Given the description of an element on the screen output the (x, y) to click on. 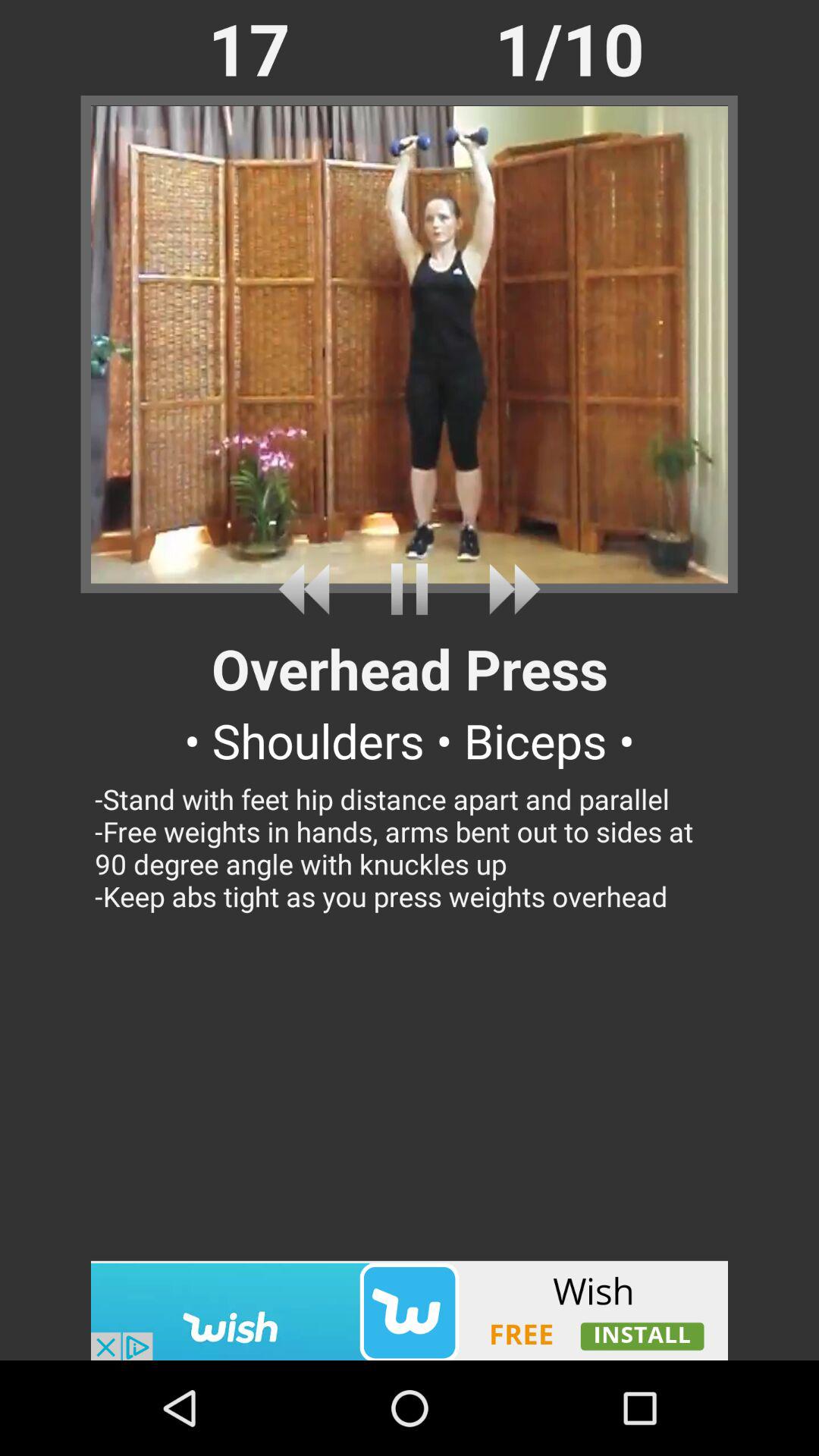
rewind video (309, 589)
